Given the description of an element on the screen output the (x, y) to click on. 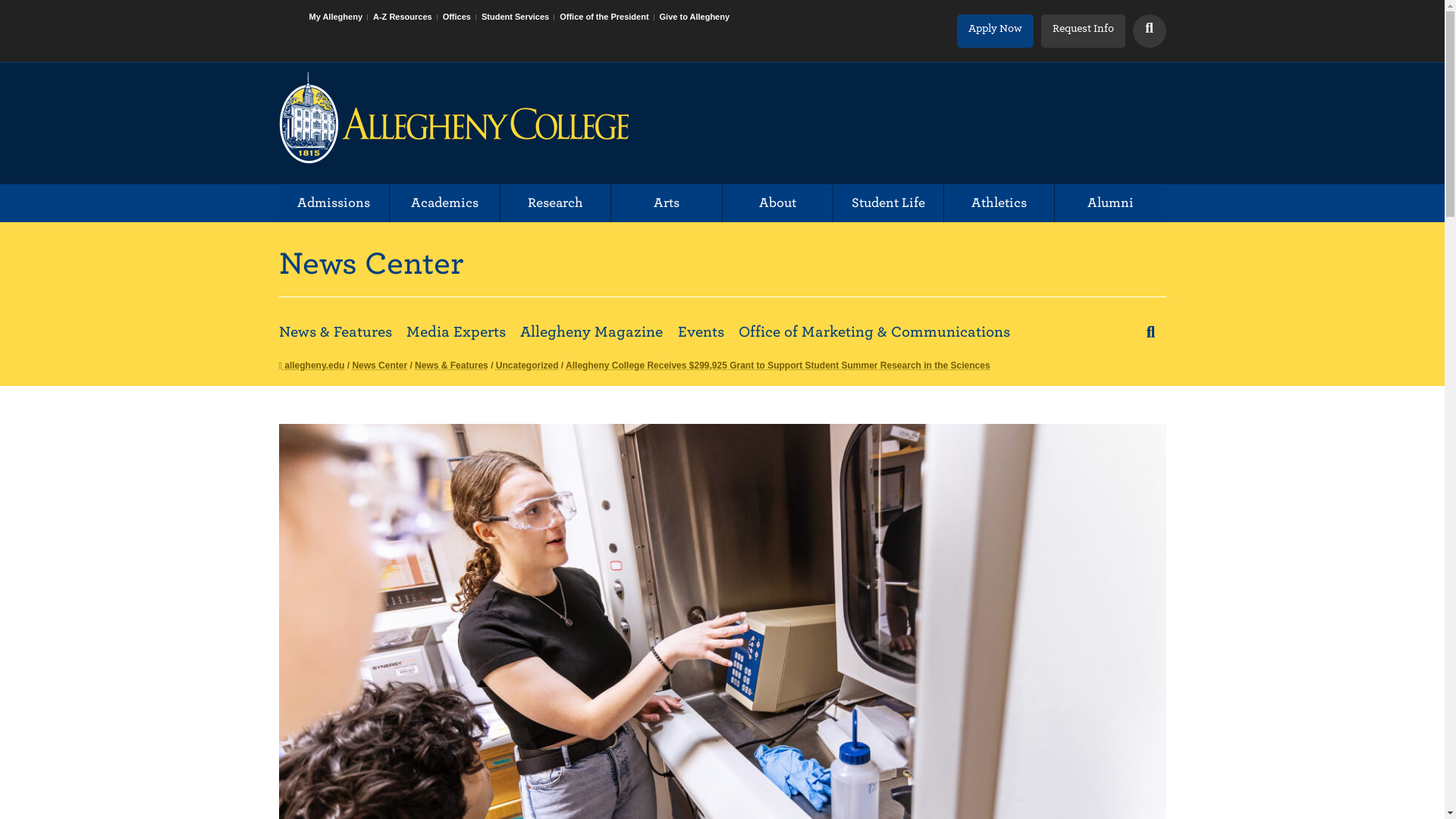
Allegheny Magazine (590, 331)
About (777, 202)
Uncategorized (527, 365)
Athletics (998, 202)
allegheny.edu (312, 365)
Admissions (334, 202)
GO (1152, 31)
Events (700, 331)
Student Services (517, 28)
A-Z Resources (405, 28)
